Given the description of an element on the screen output the (x, y) to click on. 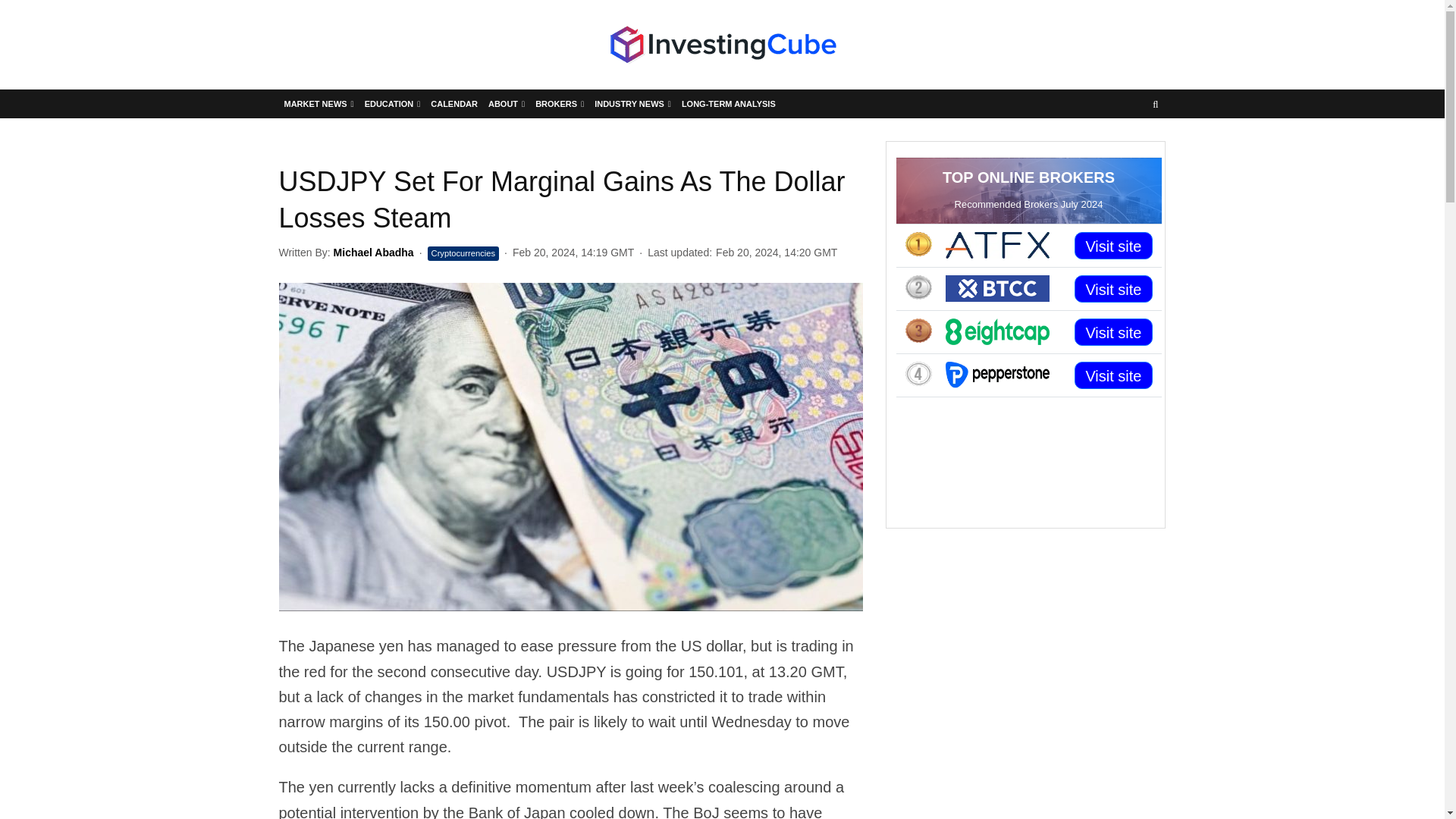
LONG-TERM ANALYSIS (728, 103)
BROKERS (559, 103)
INDUSTRY NEWS (633, 103)
ABOUT (506, 103)
EDUCATION (392, 103)
MARKET NEWS (319, 103)
Michael Abadha (373, 252)
CALENDAR (454, 103)
